Given the description of an element on the screen output the (x, y) to click on. 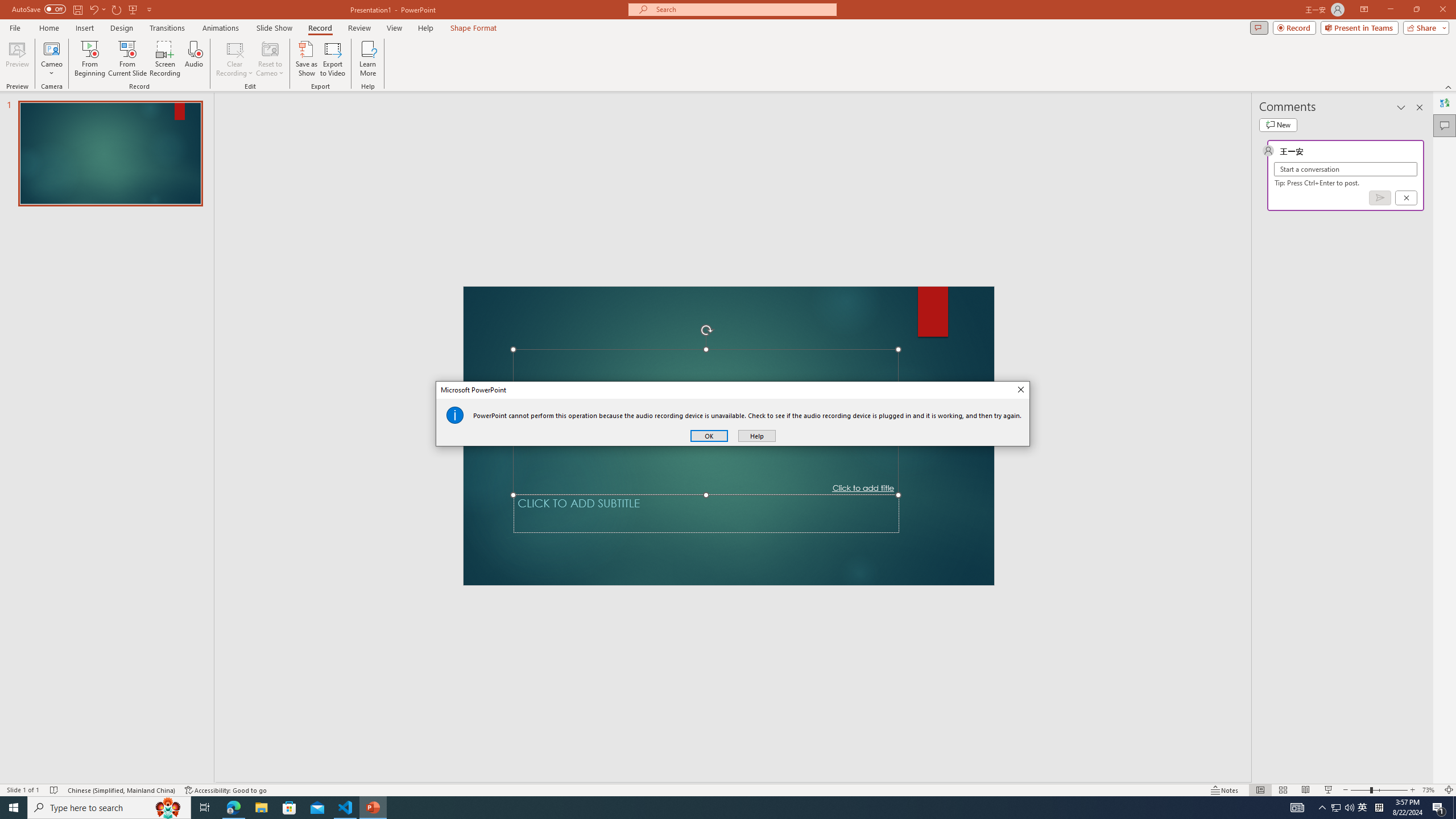
Zoom In (1412, 790)
Export to Video (332, 58)
Post comment (Ctrl + Enter) (1379, 197)
Close pane (1419, 107)
AutomationID: 4105 (1297, 807)
Cancel (1362, 807)
User Promoted Notification Area (1405, 197)
Start (1342, 807)
Notification Chevron (13, 807)
Task Pane Options (1322, 807)
